Given the description of an element on the screen output the (x, y) to click on. 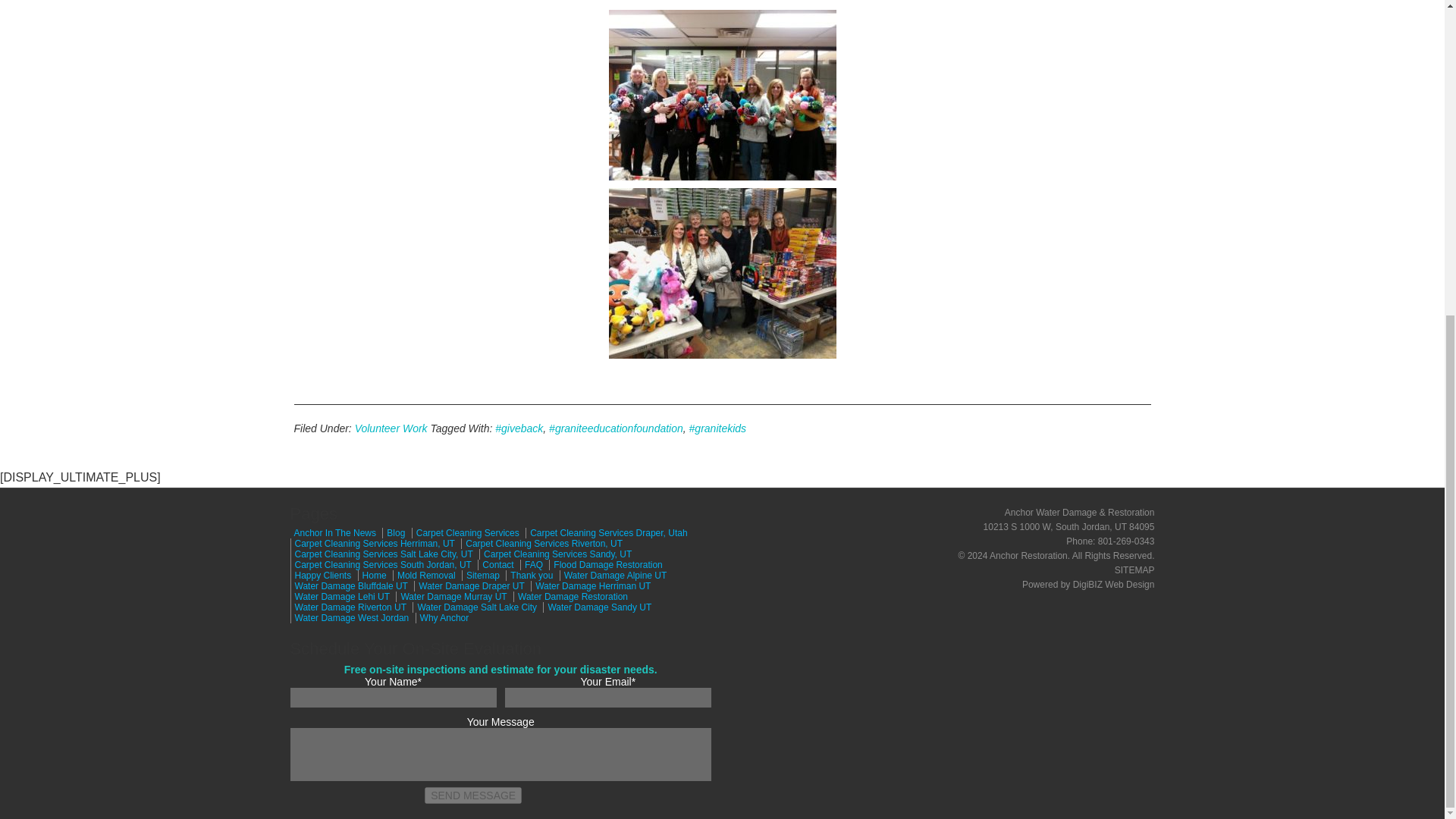
Sitemap (480, 575)
Volunteer Work (391, 428)
Contact (495, 564)
Thank you (529, 575)
Carpet Cleaning Services Salt Lake City, UT (380, 553)
Happy Clients (319, 575)
FAQ (531, 564)
Water Damage Bluffdale UT (348, 585)
Carpet Cleaning Services South Jordan, UT (379, 564)
Carpet Cleaning Services Sandy, UT (555, 553)
Carpet Cleaning Services Draper, Utah (606, 532)
Water Damage Draper UT (468, 585)
Home (372, 575)
Carpet Cleaning Services Riverton, UT (542, 543)
Mold Removal (424, 575)
